Given the description of an element on the screen output the (x, y) to click on. 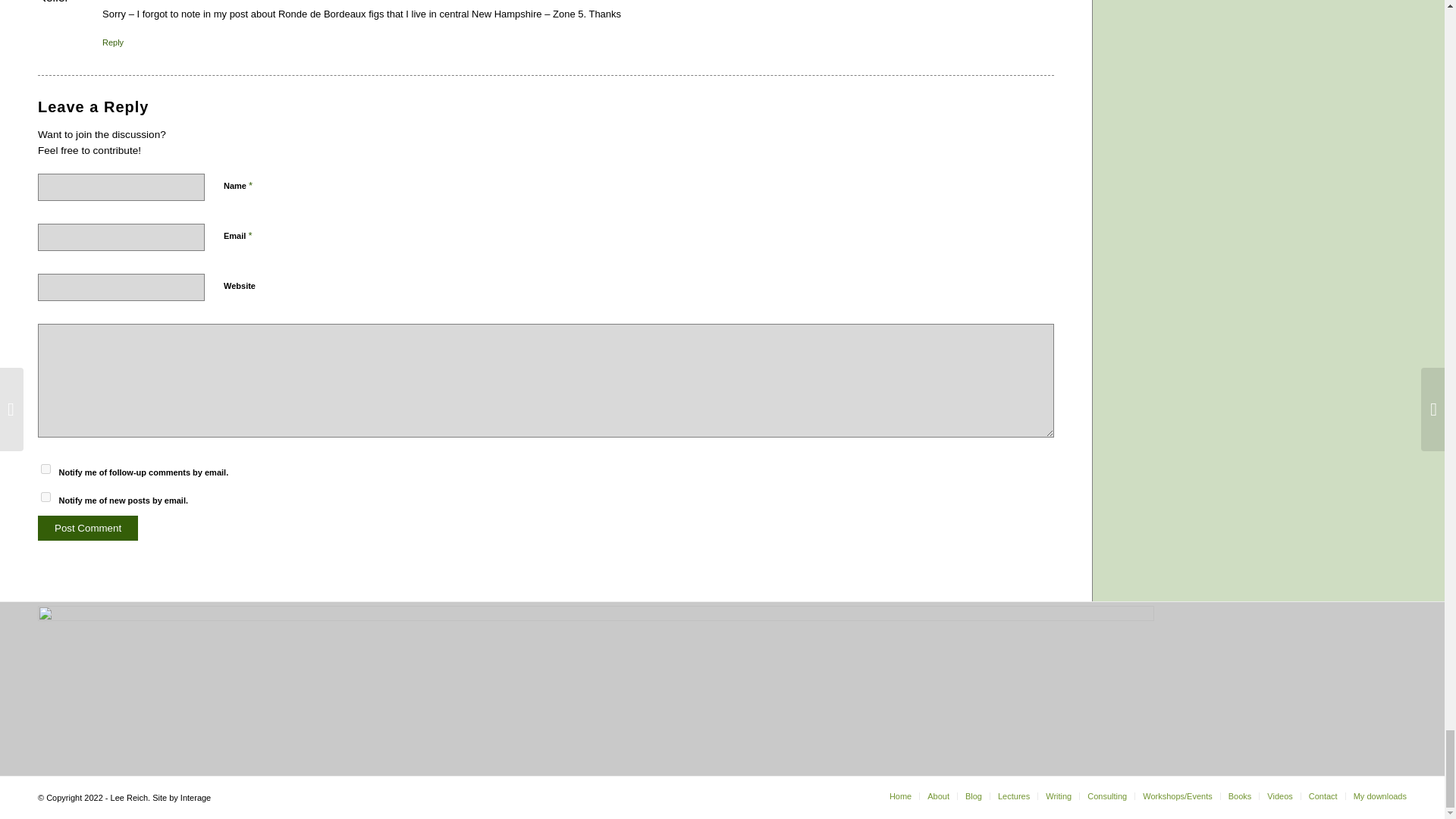
Post Comment (87, 527)
subscribe (45, 497)
subscribe (45, 469)
